Given the description of an element on the screen output the (x, y) to click on. 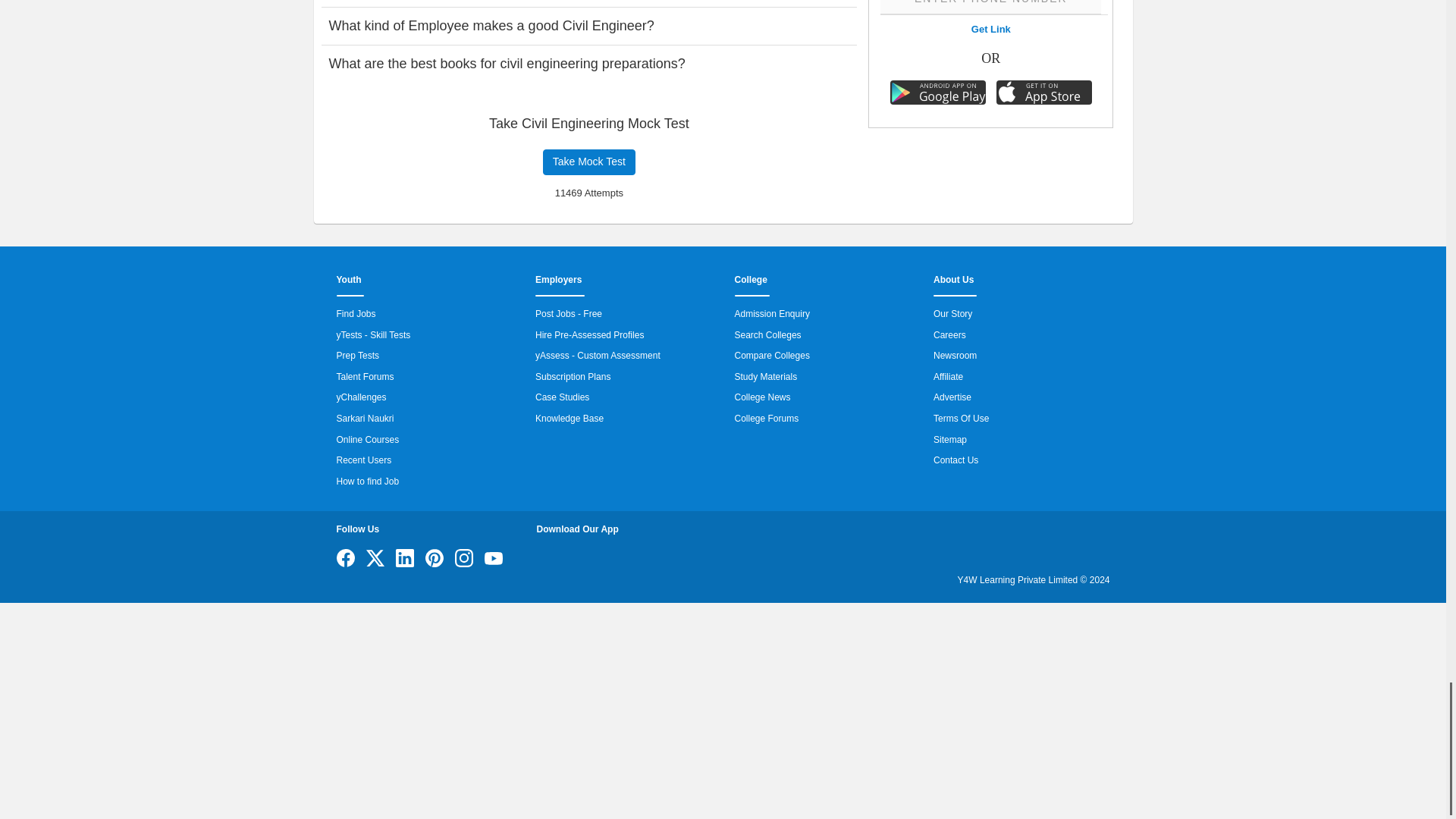
ENTER PHONE NUMBER (990, 7)
